Given the description of an element on the screen output the (x, y) to click on. 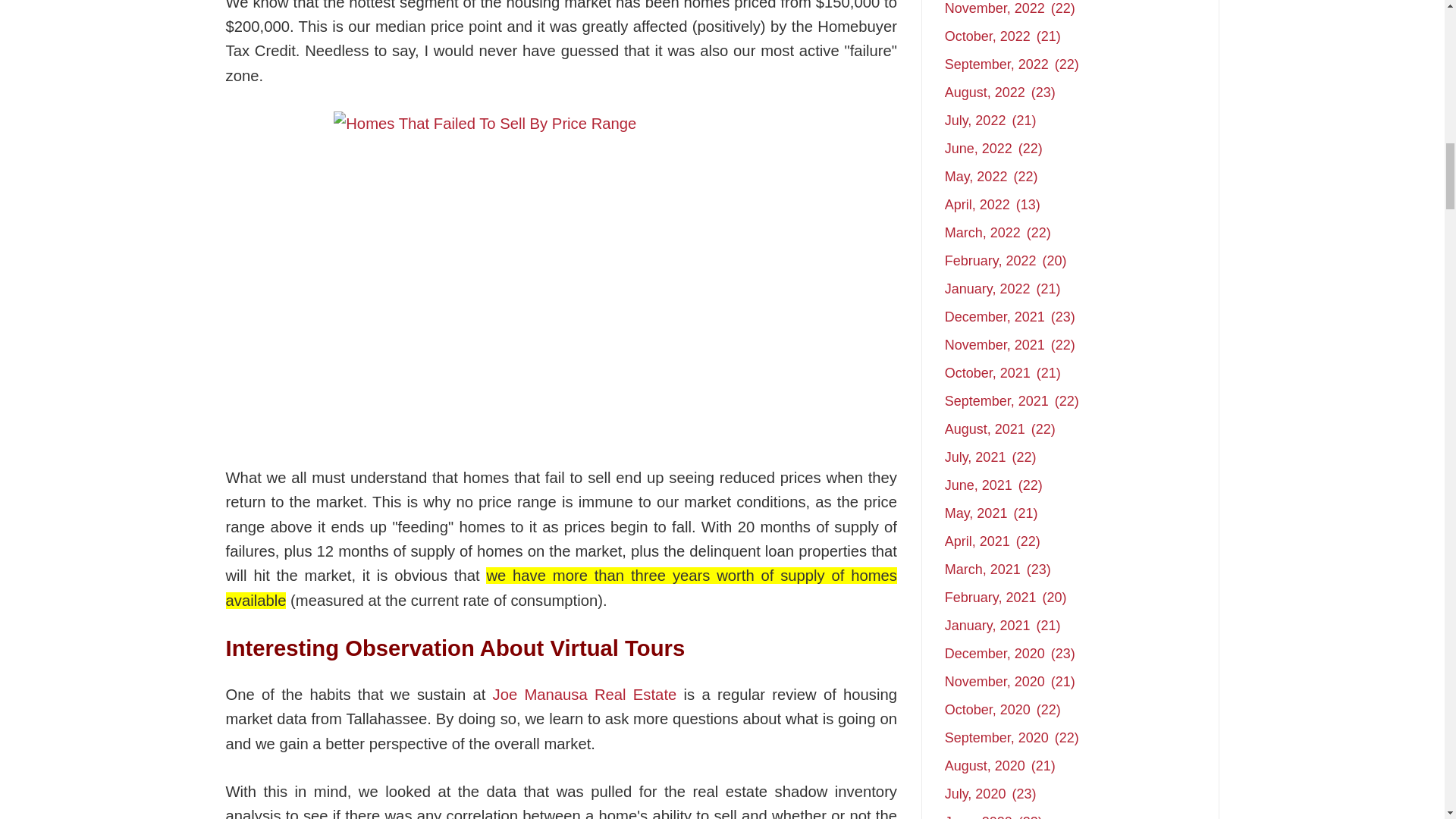
Real Estate Tallahassee Florida (585, 694)
